Given the description of an element on the screen output the (x, y) to click on. 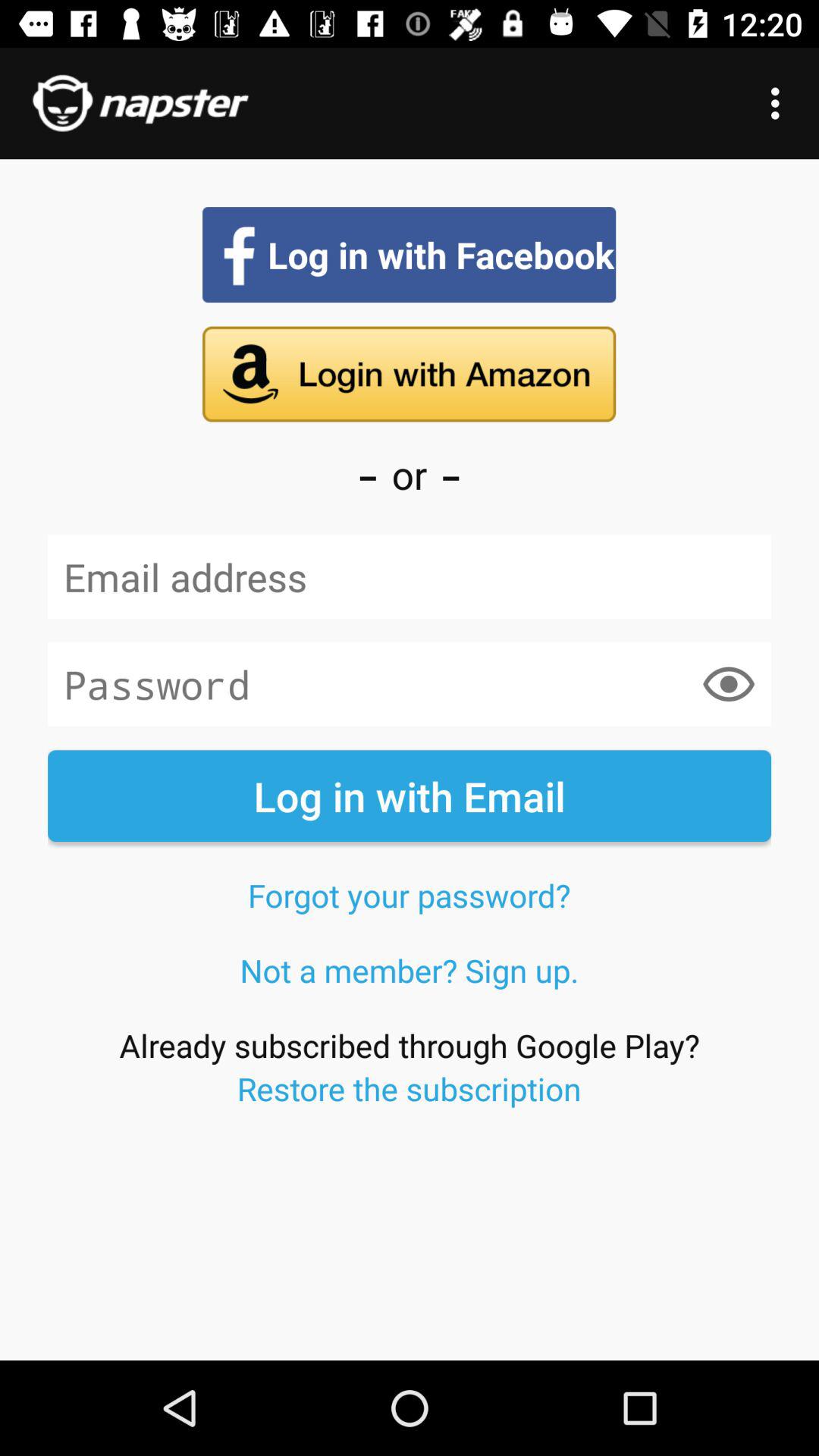
login with amazon account (408, 374)
